Given the description of an element on the screen output the (x, y) to click on. 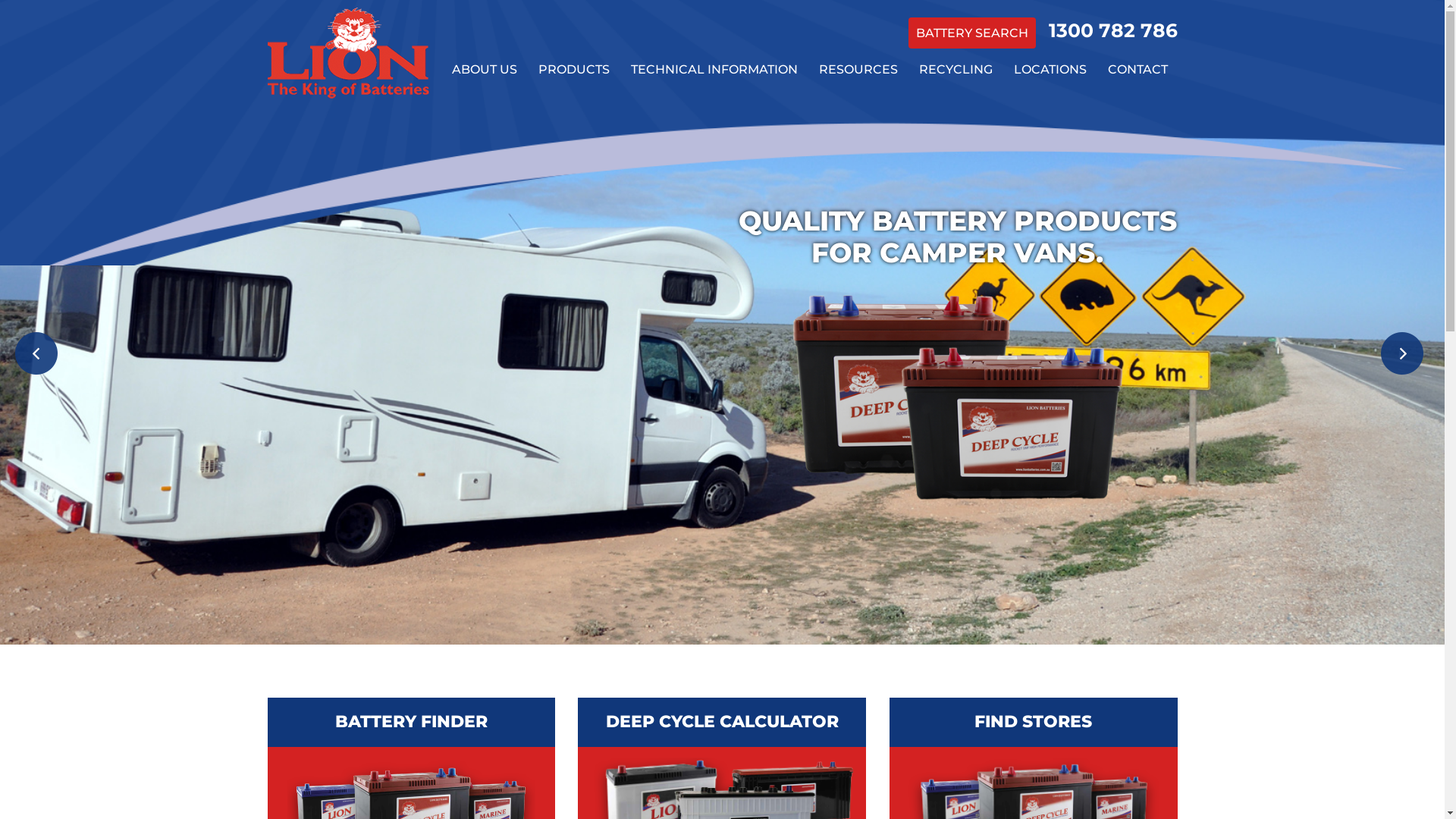
BATTERY CHARGING Element type: text (713, 214)
VICTORIA/TASMANIA Element type: text (1050, 180)
TRACTION BATTERIES Element type: text (572, 282)
LITHIUM IRON PHOSPHATE BATTERIES Element type: text (572, 248)
HEALTH & SAFETY Element type: text (857, 180)
ABOUT US Element type: text (483, 69)
TECHNICAL INFORMATION Element type: text (713, 69)
JUMP STARTING Element type: text (857, 214)
QUEENSLAND Element type: text (1050, 145)
FORKLIFT BATTERIES Element type: text (572, 316)
CONTACT Element type: text (1137, 69)
TECHNICAL BULLETINS Element type: text (713, 145)
RECYCLING Element type: text (954, 69)
LION MOTIVE POWER Element type: text (483, 111)
BATTERY FITTING Element type: text (857, 248)
PRODUCT CATALOGUES Element type: text (857, 111)
PRODUCTS Element type: text (572, 69)
Previous Element type: text (39, 356)
TERMS AND CONDITIONS Element type: text (857, 145)
Next Element type: text (1404, 356)
1300 782 786 Element type: text (1112, 29)
DEEP CYCLE BATTERIES Element type: text (572, 180)
RESOURCES Element type: text (857, 69)
SOLAR BATTERIES Element type: text (572, 350)
AUTOMOTIVE BATTERIES Element type: text (572, 111)
ALL ABOUT BATTERIES Element type: text (713, 111)
SOUTH AUSTRALIA Element type: text (1050, 214)
BATTERY SEARCH Element type: text (971, 32)
WESTERN AUSTRALIA Element type: text (1050, 248)
MARINE BATTERIES Element type: text (572, 145)
LION STANDBY Element type: text (483, 145)
LOCATIONS Element type: text (1050, 69)
MATERIAL SAFETY DATA SHEETS Element type: text (713, 180)
STANDBY BATTERIES Element type: text (572, 384)
NEW SOUTH WALES Element type: text (1050, 111)
AGM AND GEL BATTERIES Element type: text (572, 214)
